Given the description of an element on the screen output the (x, y) to click on. 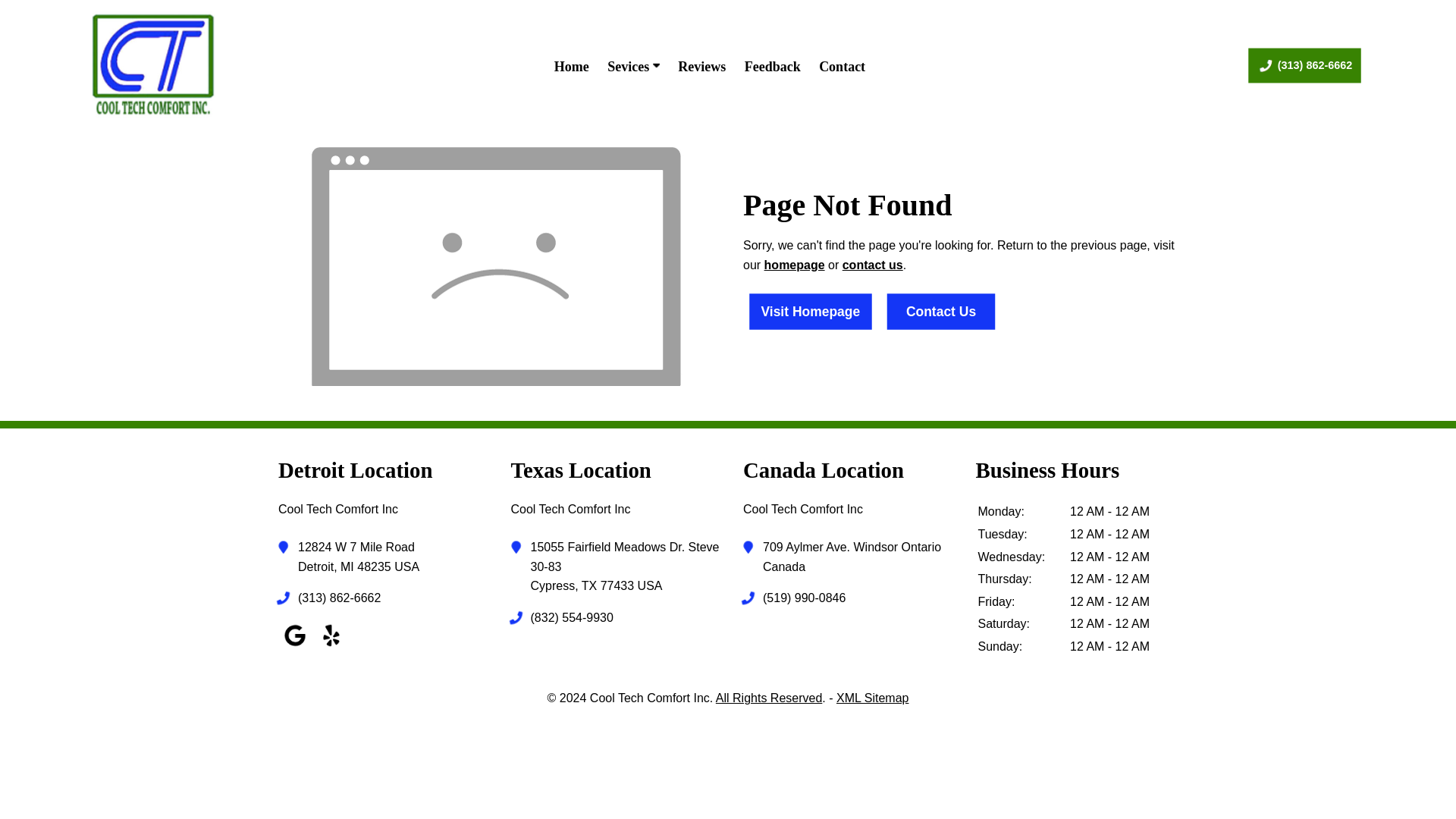
All Rights Reserved (769, 697)
Contact (872, 264)
Feedback (772, 67)
404 (495, 265)
Contact (841, 67)
Reviews (701, 67)
View Yelp Listing (330, 645)
Call Today (860, 598)
homepage (794, 264)
Home (571, 67)
